Given the description of an element on the screen output the (x, y) to click on. 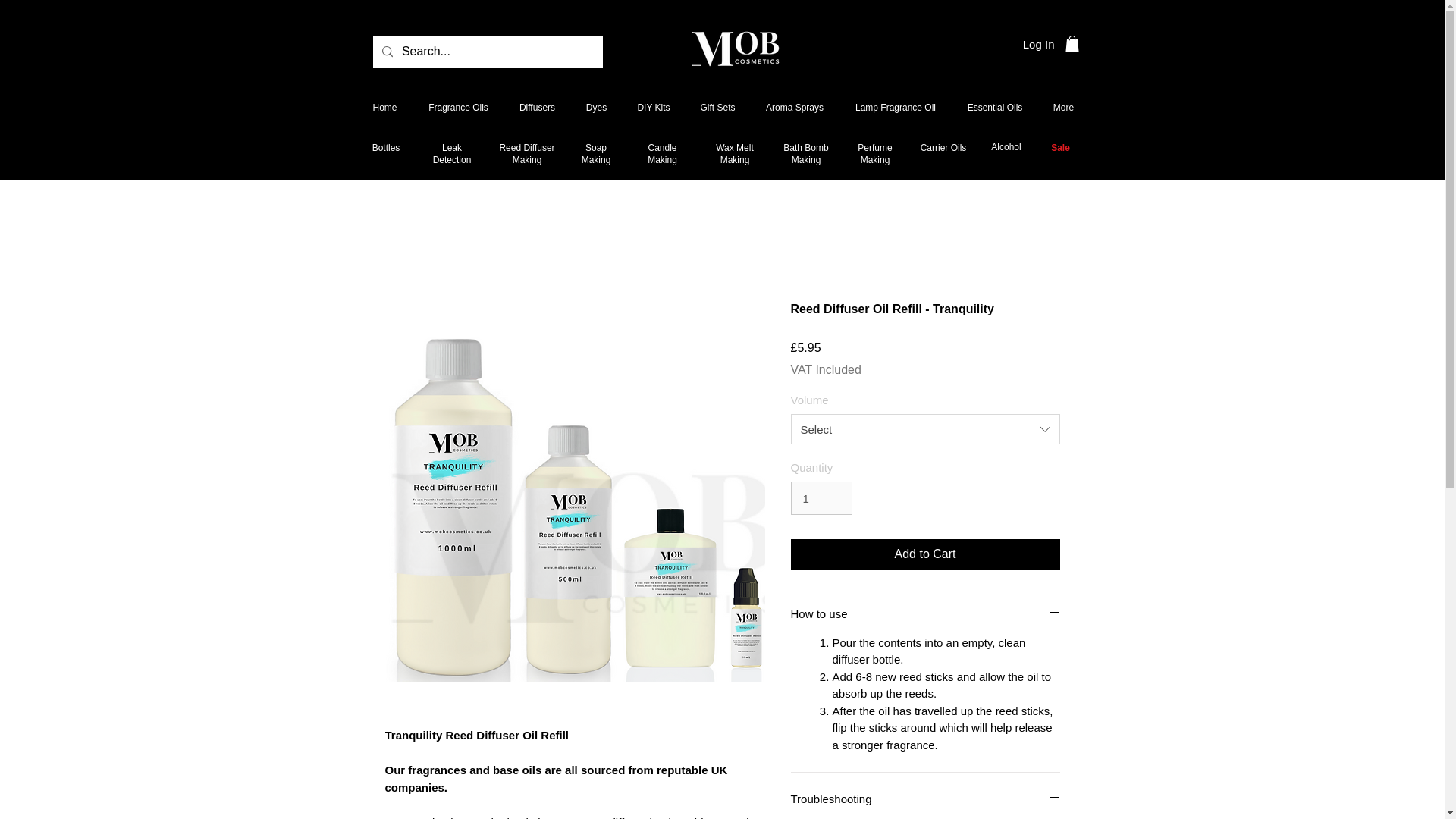
Lamp Fragrance Oil (895, 107)
Log In (1038, 43)
Home (384, 107)
Gift Sets (718, 107)
DIY Kits (652, 107)
Dyes (595, 107)
Essential Oils (995, 107)
Diffusers (536, 107)
1 (820, 498)
Aroma Sprays (795, 107)
Fragrance Oils (457, 107)
Smile.io Rewards Program Launcher (69, 780)
